Given the description of an element on the screen output the (x, y) to click on. 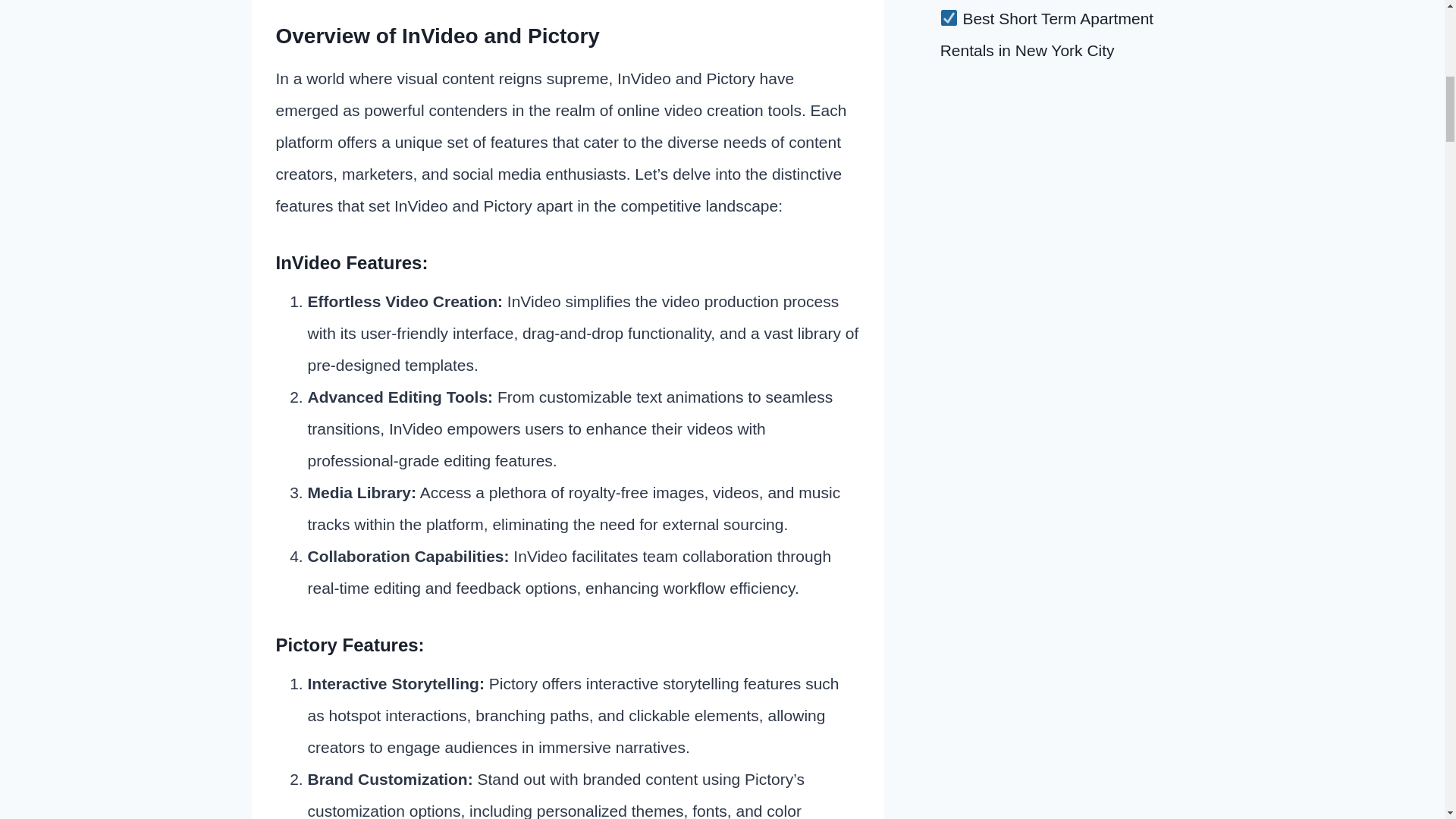
Best Short Term Apartment Rentals in New York City (1047, 33)
